Given the description of an element on the screen output the (x, y) to click on. 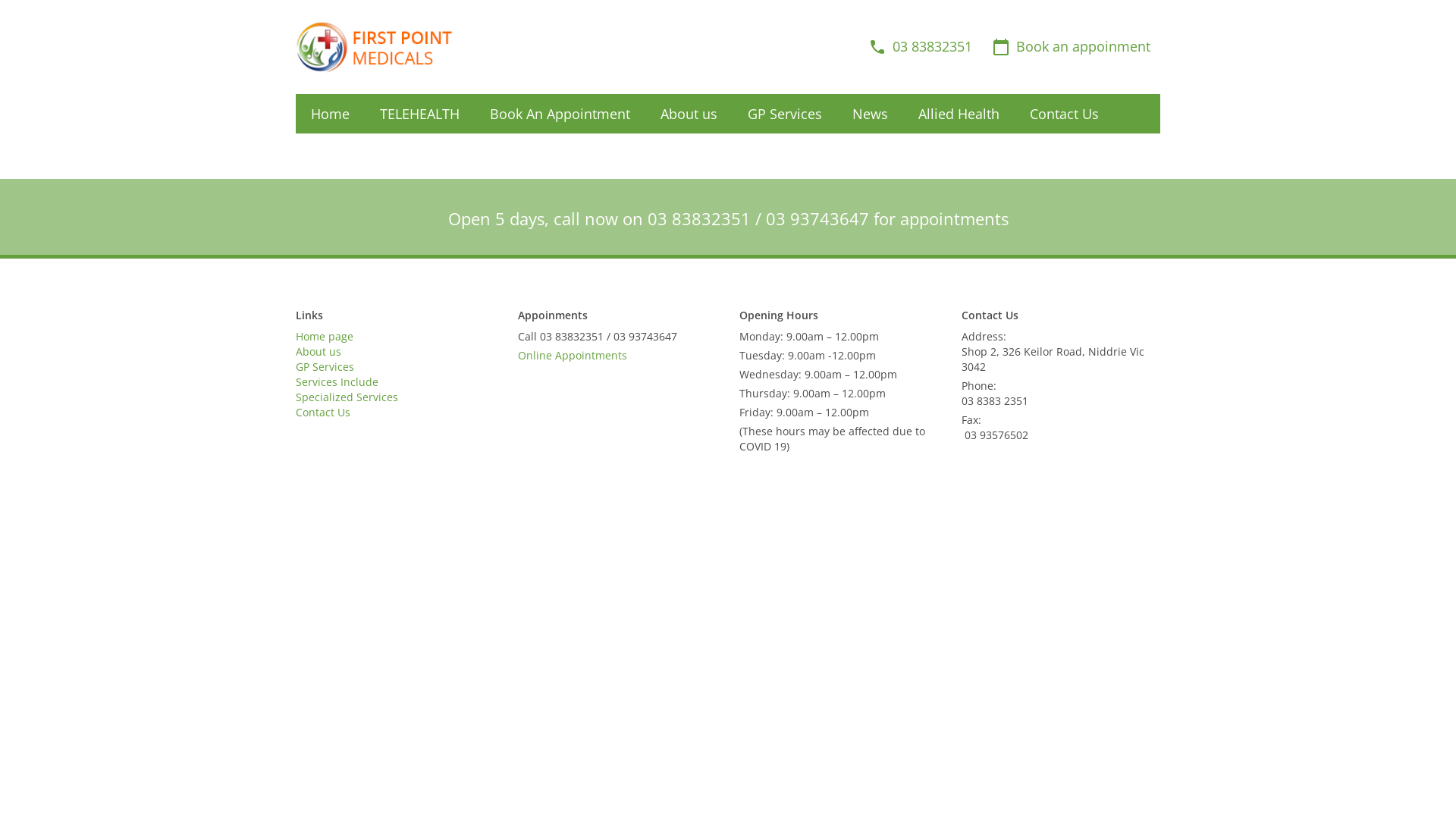
Online Appointments Element type: text (571, 355)
Services Include Element type: text (336, 381)
TELEHEALTH Element type: text (419, 113)
Home Element type: text (329, 113)
Allied Health Element type: text (958, 113)
GP Services Element type: text (324, 366)
GP Services Element type: text (784, 113)
03 83832351 Element type: text (920, 46)
Contact Us Element type: text (1063, 113)
Specialized Services Element type: text (346, 396)
About us Element type: text (688, 113)
Contact Us Element type: text (322, 411)
Book An Appointment Element type: text (559, 113)
About us Element type: text (318, 351)
Home page Element type: text (324, 336)
News Element type: text (870, 113)
Book an appoinment Element type: text (1071, 46)
